Given the description of an element on the screen output the (x, y) to click on. 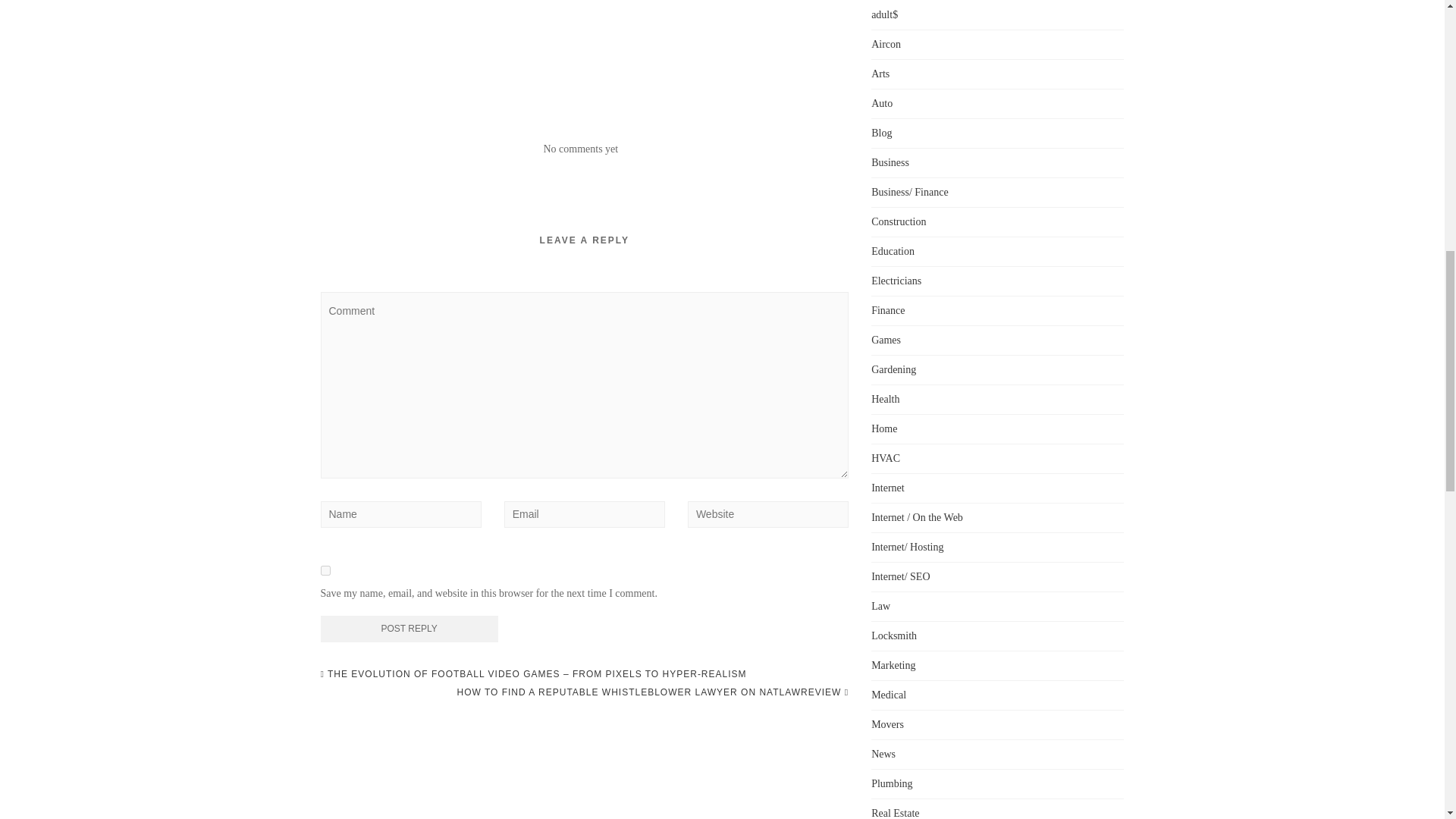
No comments yet (580, 148)
Aircon (885, 43)
Arts (879, 73)
yes (325, 570)
Post Reply (408, 628)
HOW TO FIND A REPUTABLE WHISTLEBLOWER LAWYER ON NATLAWREVIEW (652, 692)
Auto (881, 102)
Blog (880, 132)
Post Reply (408, 628)
Business (889, 162)
